Given the description of an element on the screen output the (x, y) to click on. 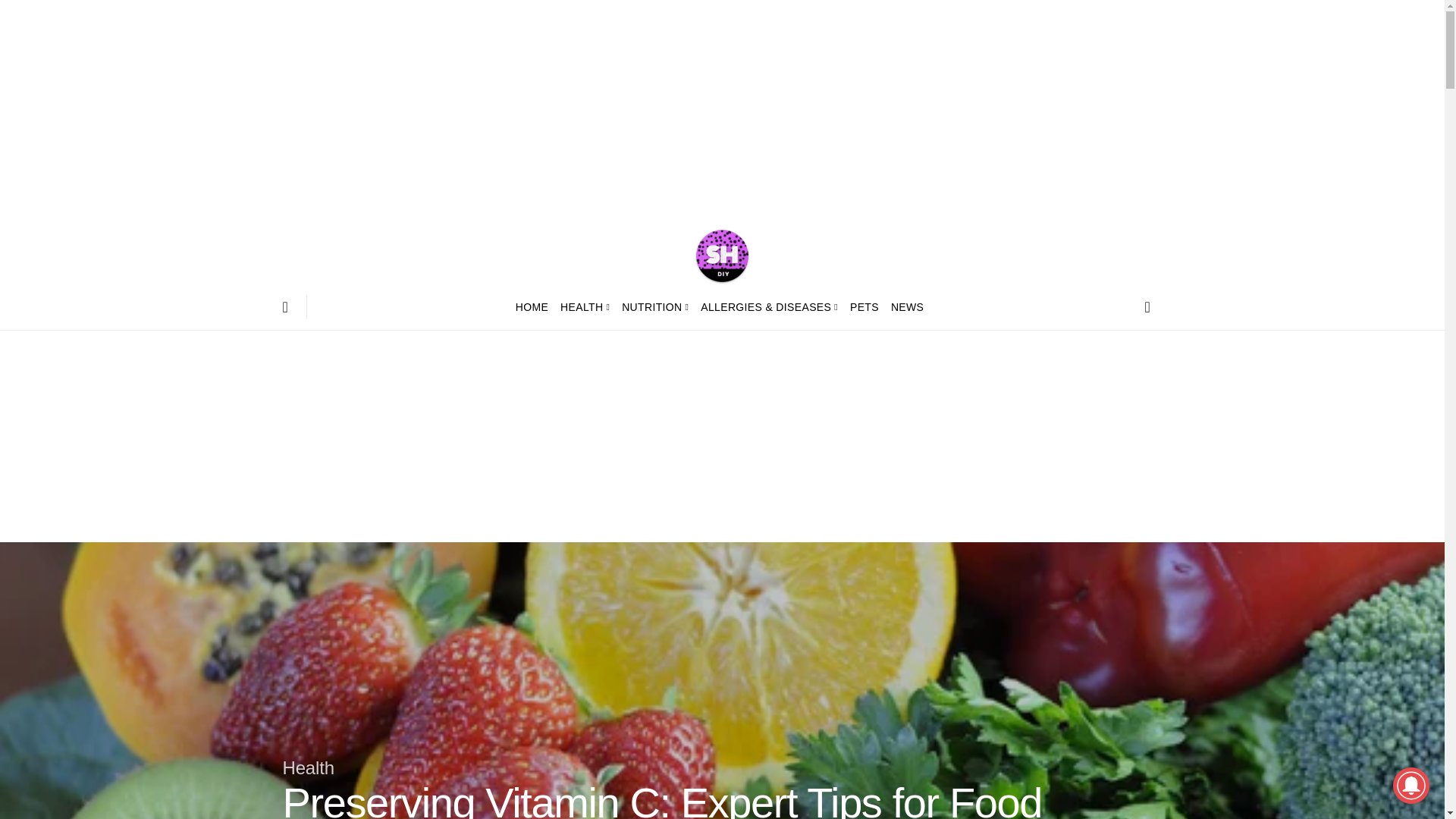
NUTRITION (654, 307)
HEALTH (584, 307)
